Given the description of an element on the screen output the (x, y) to click on. 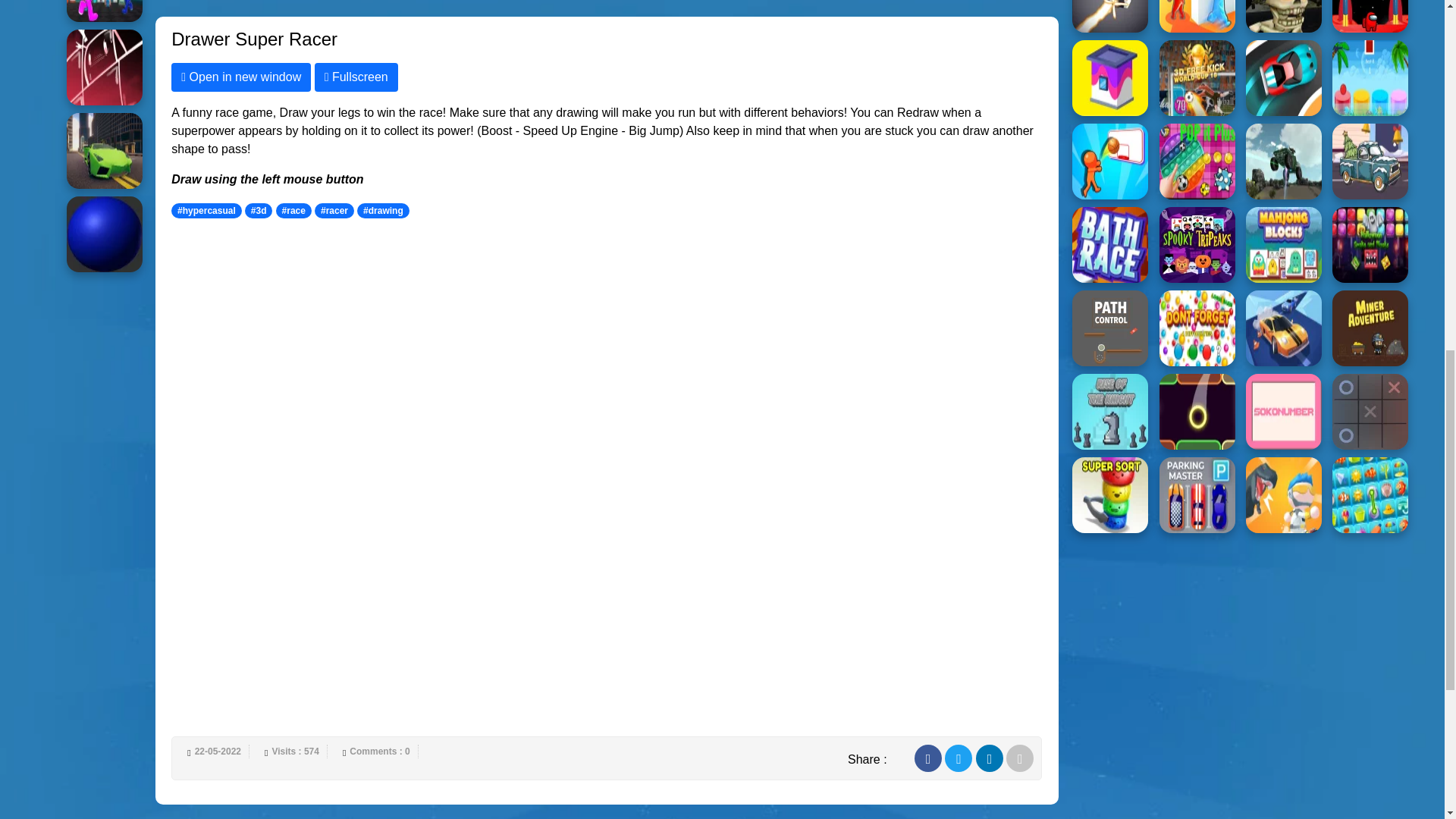
Open in new window (241, 77)
Facebook (928, 758)
Comments : 0 (380, 751)
linkedin (989, 758)
Fullscreen (355, 77)
Twitter (958, 758)
22-05-2022 (218, 751)
Tumblr (1020, 758)
Visits : 574 (295, 751)
